Given the description of an element on the screen output the (x, y) to click on. 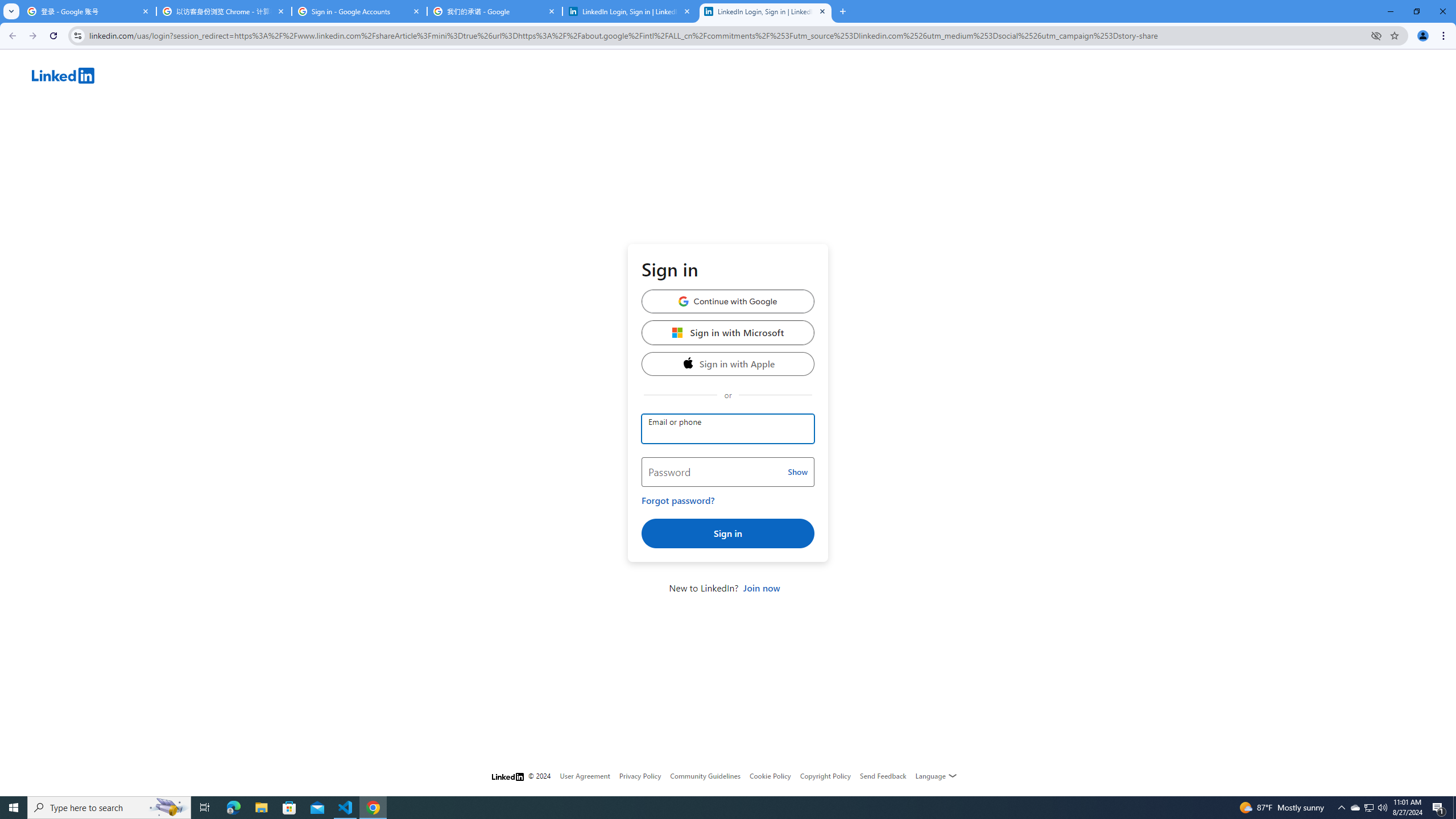
Sign in with Microsoft (727, 332)
Forgot password? (678, 500)
AutomationID: feedback-request (882, 775)
Community Guidelines (705, 775)
Copyright Policy (824, 775)
Continue with Google (727, 300)
Cookie Policy (769, 775)
